Given the description of an element on the screen output the (x, y) to click on. 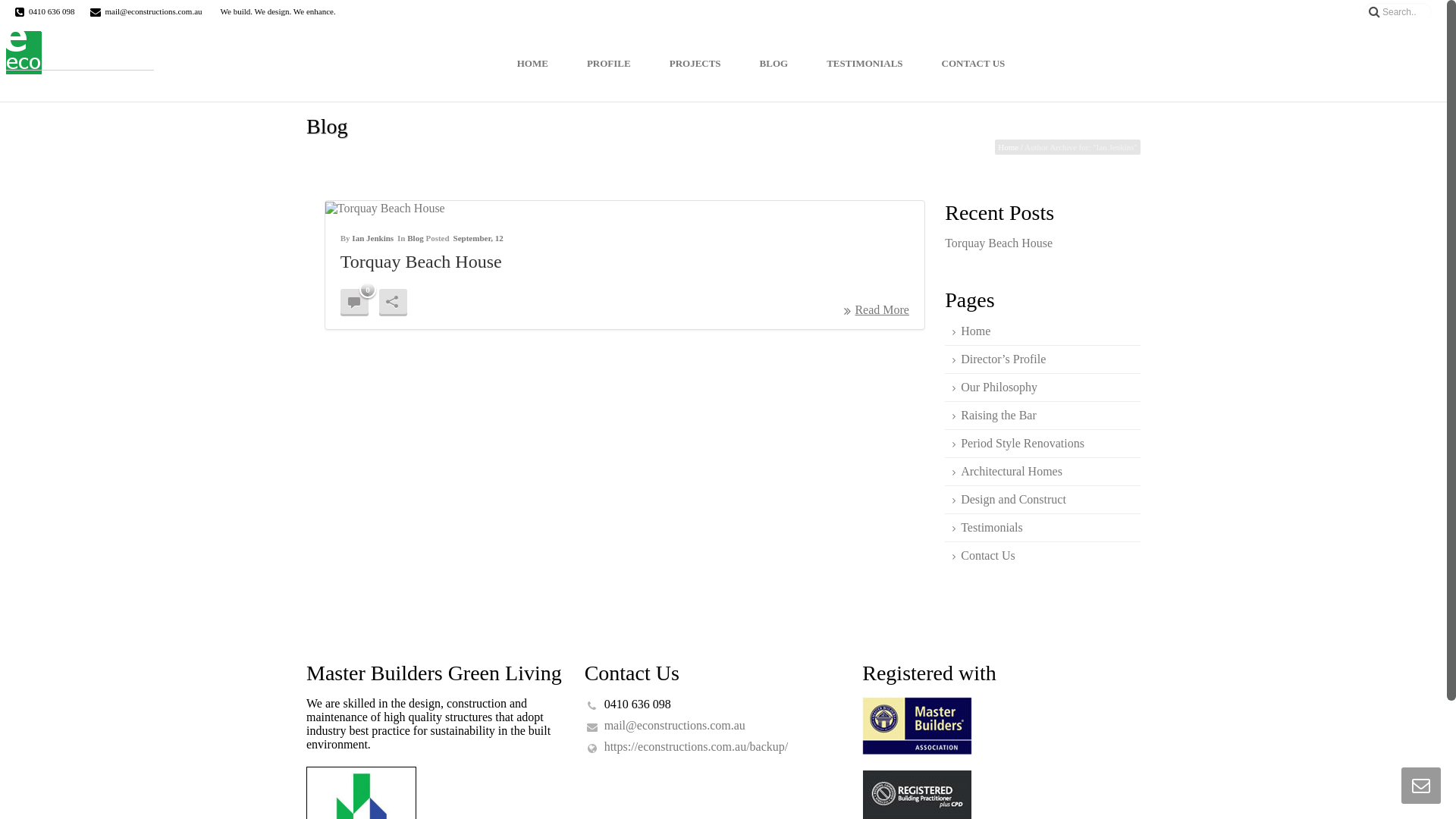
Torquay Beach House Element type: text (998, 243)
Torquay Beach House Element type: hover (385, 208)
Raising the Bar Element type: text (994, 415)
Home Element type: text (1007, 146)
TESTIMONIALS Element type: text (864, 62)
Our Philosophy Element type: text (994, 387)
mail@econstructions.com.au Element type: text (674, 725)
Architectural Homes Element type: text (1007, 471)
PROFILE Element type: text (608, 62)
Testimonials Element type: text (987, 527)
Econstructions Element type: hover (78, 62)
CONTACT US Element type: text (973, 62)
https://econstructions.com.au/backup/ Element type: text (696, 746)
Contact Us Element type: text (983, 555)
Torquay Beach House Element type: text (421, 261)
Blog Element type: text (415, 237)
Period Style Renovations Element type: text (1018, 443)
Ian Jenkins Element type: text (372, 237)
0 Element type: text (354, 300)
Design and Construct Element type: text (1009, 499)
Read More Element type: text (876, 310)
Torquay Beach House Element type: hover (624, 207)
Home Element type: text (971, 331)
PROJECTS Element type: text (695, 62)
BLOG Element type: text (773, 62)
HOME Element type: text (532, 62)
September, 12 Element type: text (478, 237)
